Given the description of an element on the screen output the (x, y) to click on. 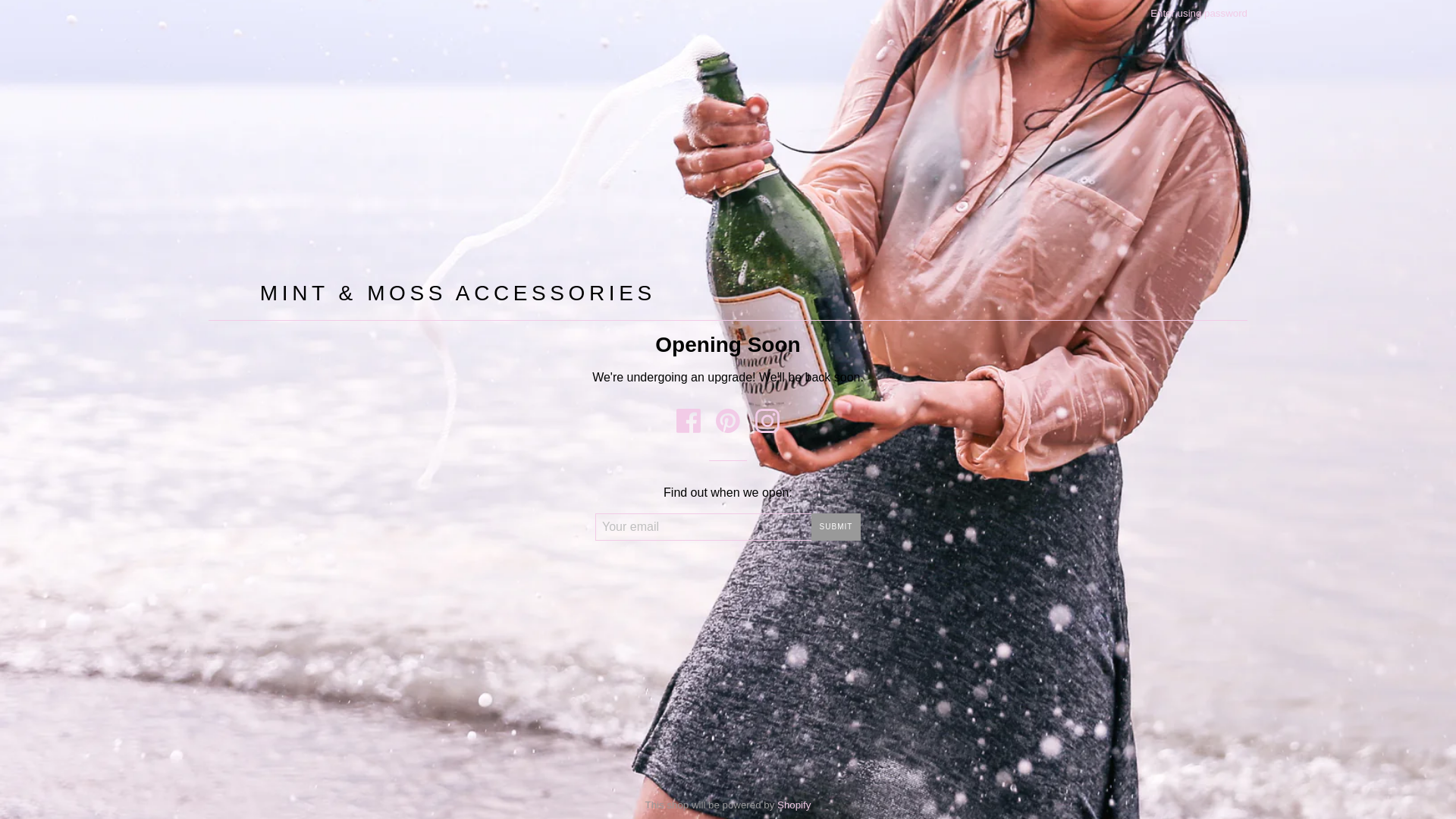
Submit Element type: text (835, 526)
Shopify Element type: text (793, 804)
Enter using password Element type: text (1198, 12)
